Given the description of an element on the screen output the (x, y) to click on. 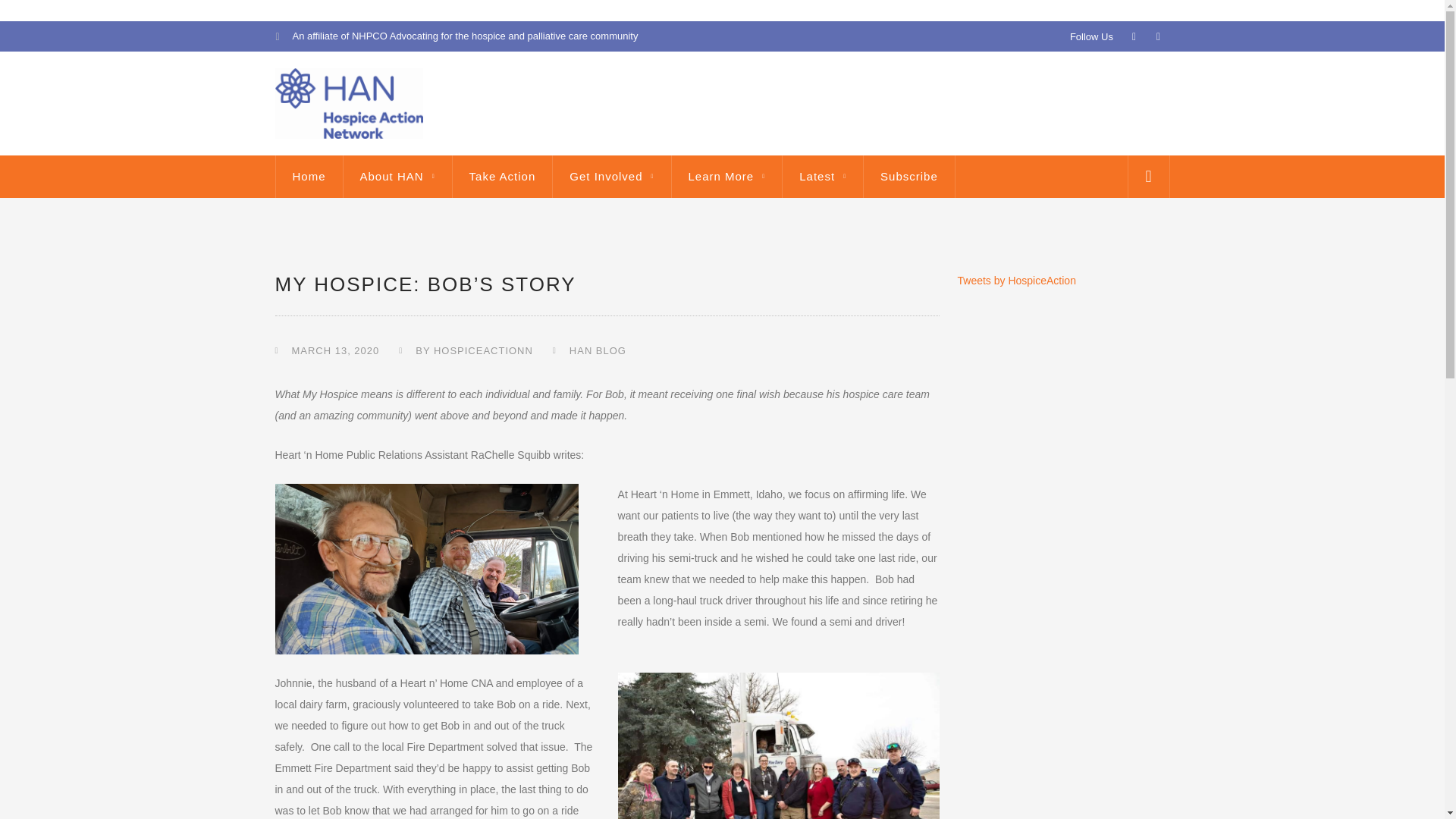
Latest (822, 176)
Learn More (726, 176)
View all posts by hospiceactionn (482, 350)
LinkedIn Profile (1158, 36)
About HAN (397, 176)
Take Action (501, 176)
HOSPICEACTIONN (482, 350)
Twitter (1133, 36)
Subscribe (908, 176)
Hospice Action Network (348, 102)
LinkedIn (1158, 36)
Twitter Profile (1133, 36)
HAN BLOG (597, 350)
Get Involved (611, 176)
Home (309, 176)
